Given the description of an element on the screen output the (x, y) to click on. 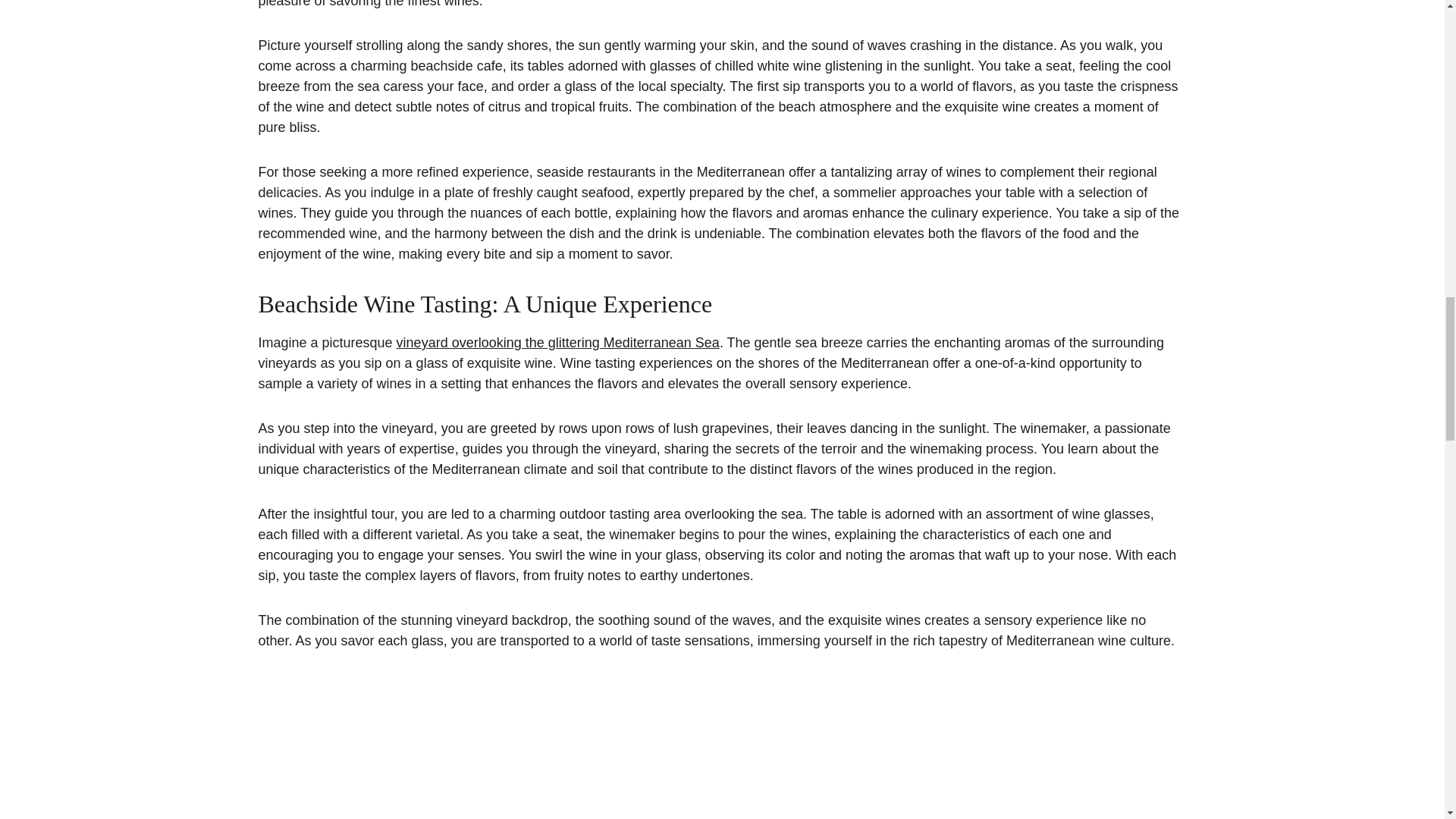
vineyard overlooking the glittering Mediterranean Sea (557, 342)
